Given the description of an element on the screen output the (x, y) to click on. 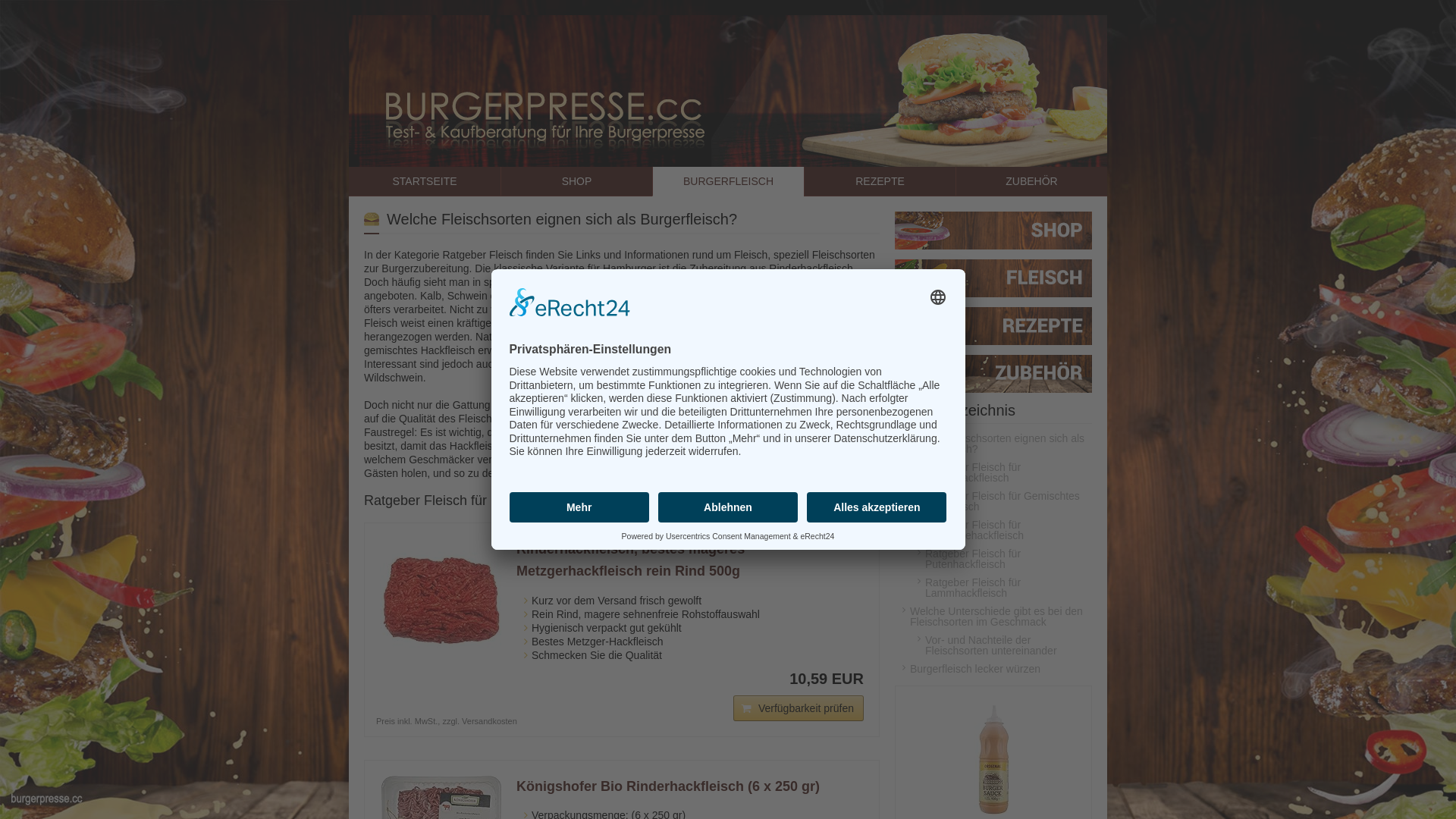
Welche Fleischsorten eignen sich als Burgerfleisch? Element type: text (993, 443)
Burgerpresse - Vergleich, Test und Kauf Element type: text (727, 90)
Vor- und Nachteile der Fleischsorten untereinander Element type: text (1001, 644)
Burgerpresse Onlineshop Element type: hover (993, 234)
BURGERFLEISCH Element type: text (727, 181)
STARTSEITE Element type: text (424, 181)
REZEPTE Element type: text (879, 181)
SHOP Element type: text (576, 181)
Burgerfleisch selber machen Element type: hover (993, 281)
Burger Rezepte Element type: hover (993, 329)
